Given the description of an element on the screen output the (x, y) to click on. 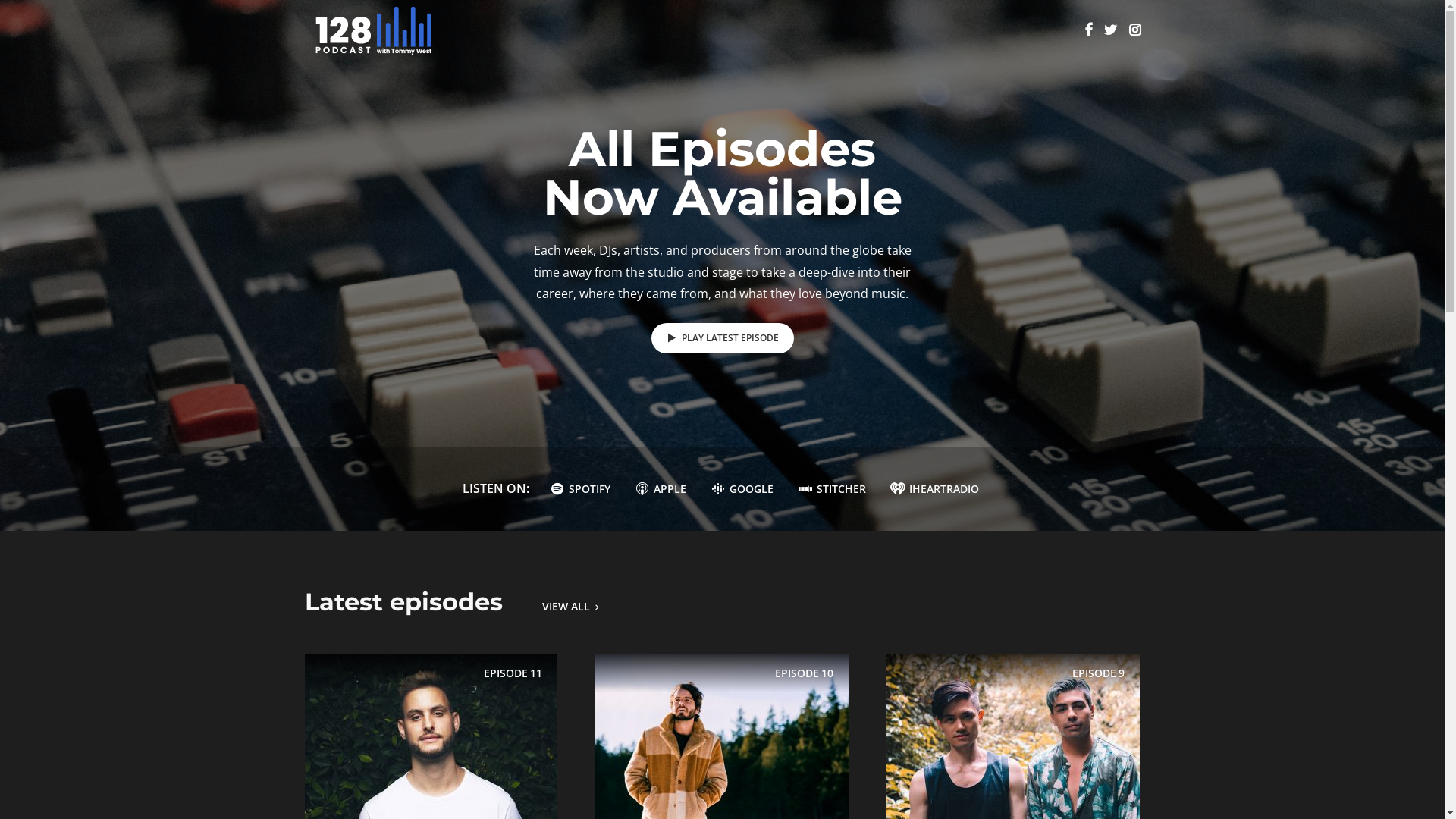
GOOGLE Element type: text (740, 488)
EPISODE
9 Element type: text (1012, 748)
VIEW ALL Element type: text (551, 606)
EPISODE
10 Element type: text (721, 748)
PLAY LATEST EPISODE Element type: text (721, 338)
SPOTIFY Element type: text (578, 488)
EPISODE
11 Element type: text (431, 748)
APPLE Element type: text (658, 488)
IHEARTRADIO Element type: text (933, 488)
STITCHER Element type: text (830, 488)
